Given the description of an element on the screen output the (x, y) to click on. 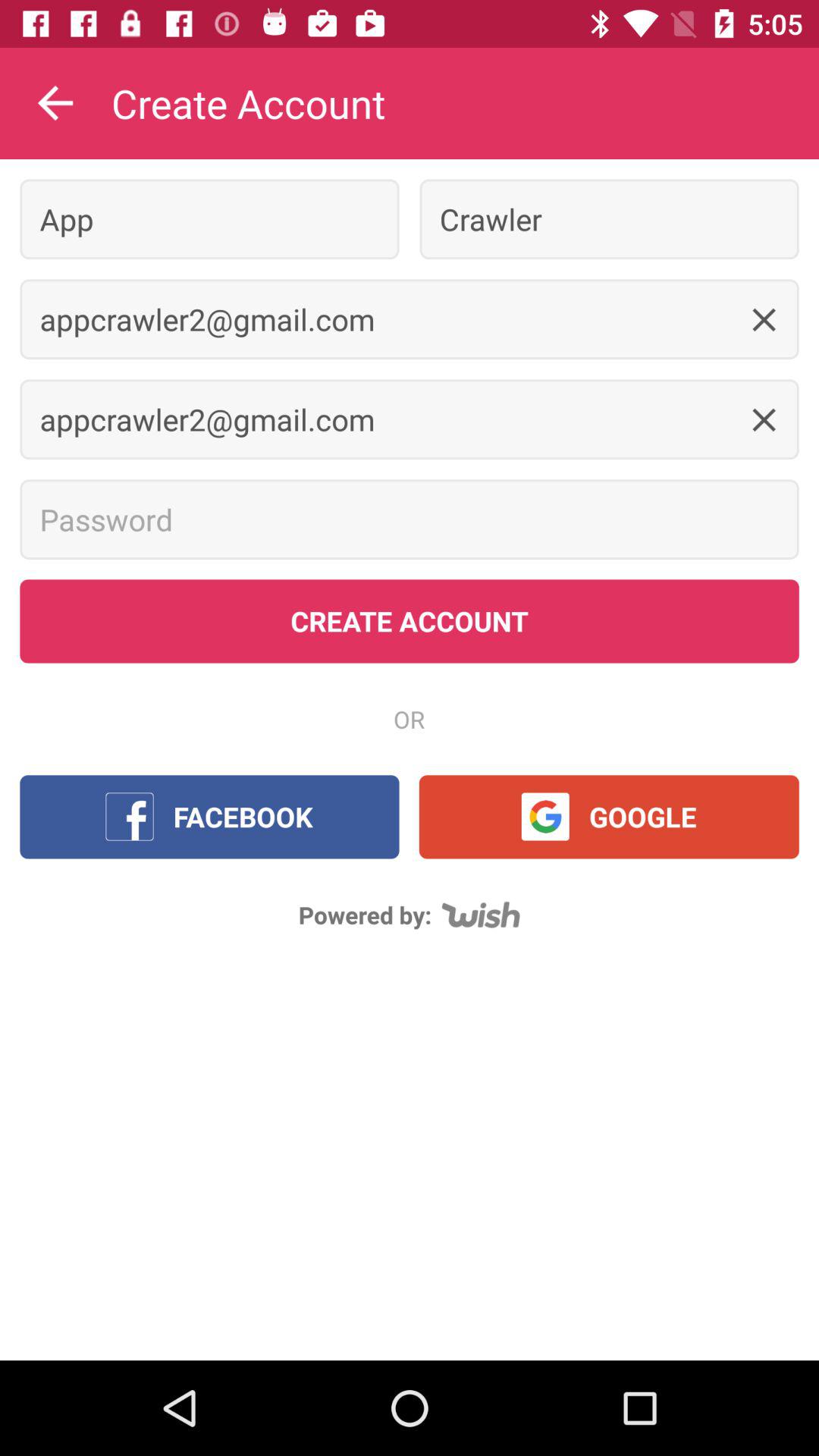
enter your password (409, 519)
